Given the description of an element on the screen output the (x, y) to click on. 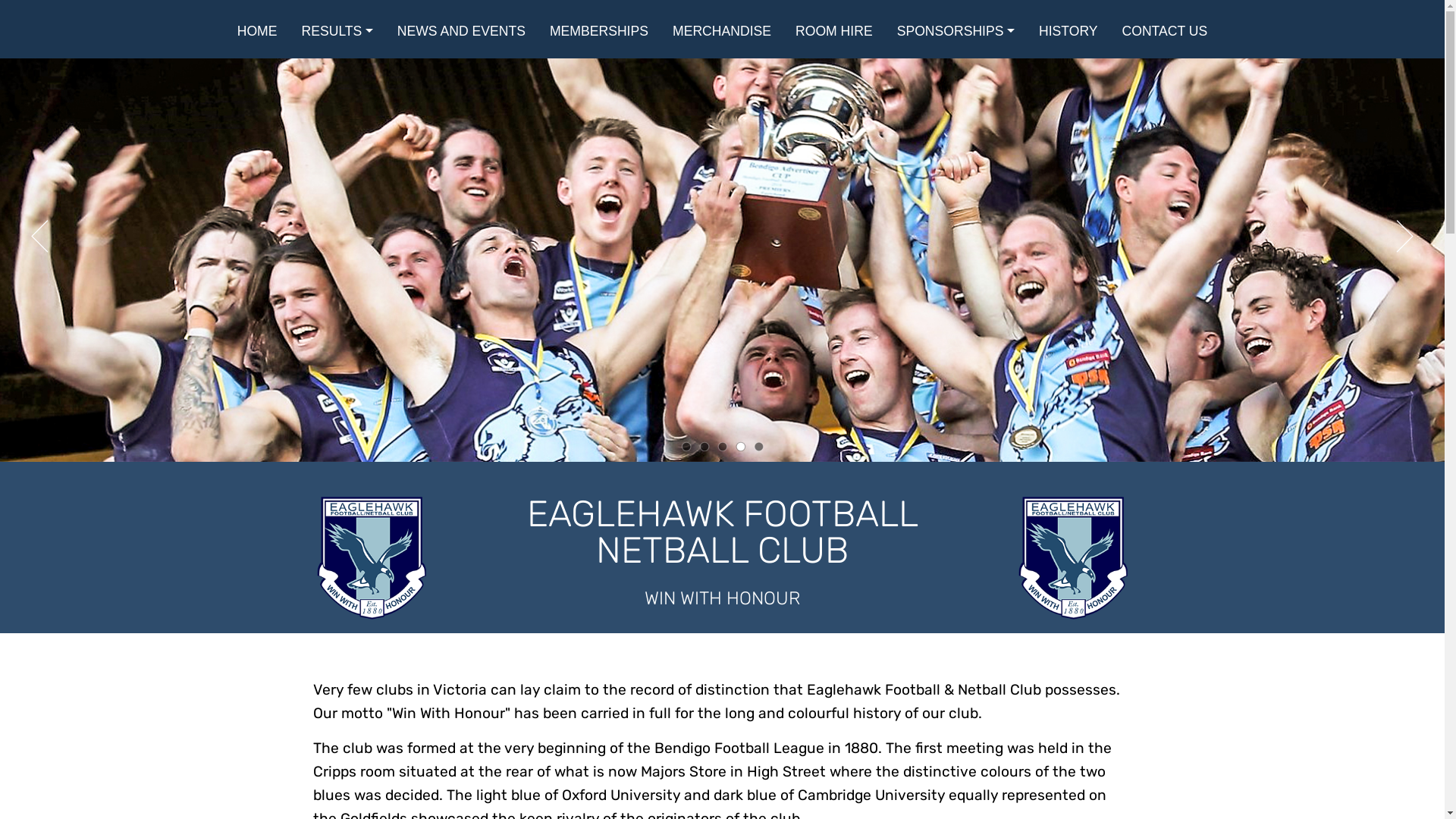
ROOM HIRE Element type: text (833, 31)
MEMBERSHIPS Element type: text (598, 31)
HOME Element type: text (257, 31)
NEWS AND EVENTS Element type: text (461, 31)
MERCHANDISE Element type: text (721, 31)
CONTACT US Element type: text (1165, 31)
HISTORY Element type: text (1068, 31)
RESULTS Element type: text (337, 31)
SPONSORSHIPS Element type: text (955, 31)
